Given the description of an element on the screen output the (x, y) to click on. 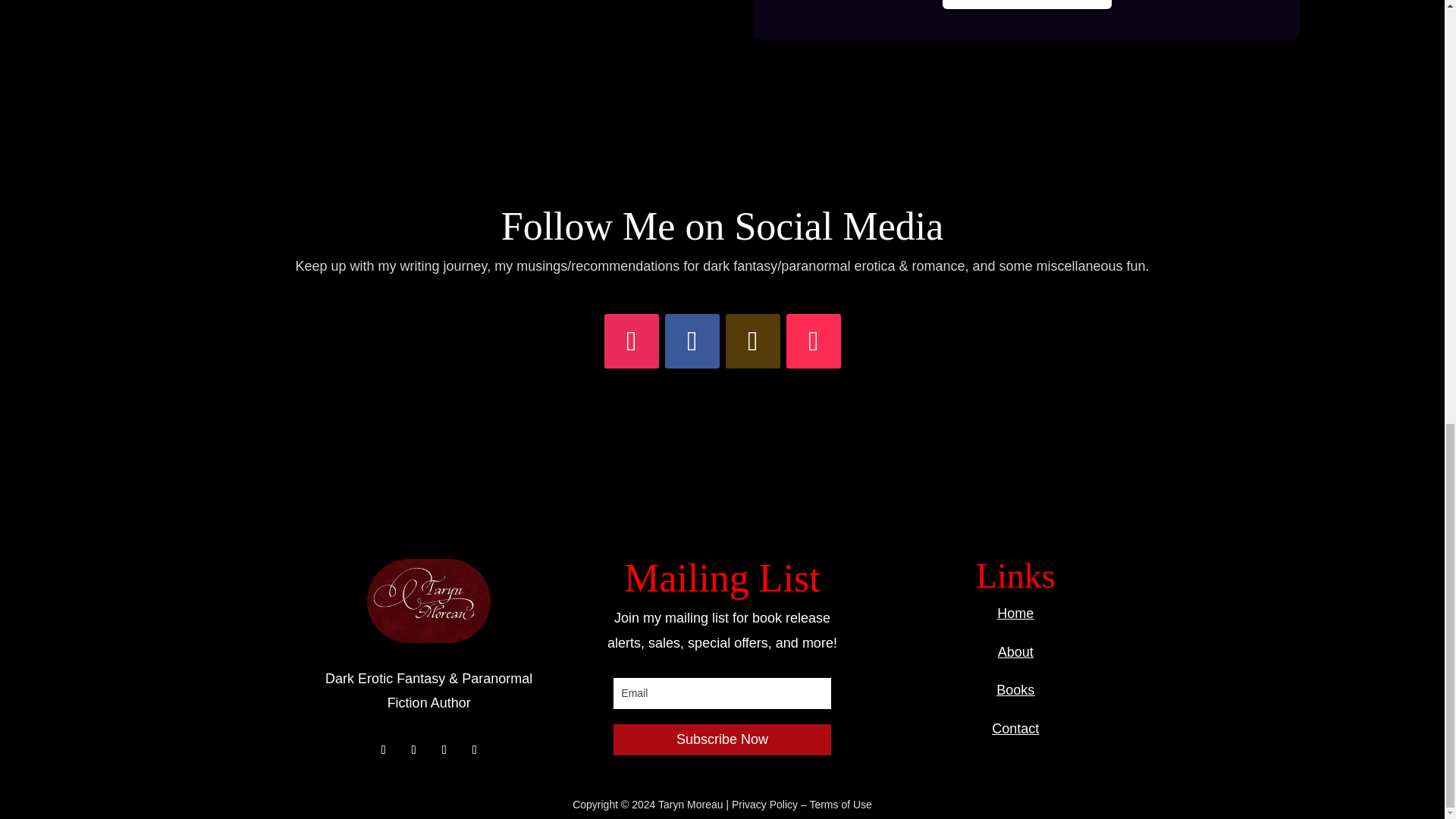
Contact (1015, 728)
Follow on TikTok (813, 340)
Follow on Goodreads (751, 340)
About (1015, 652)
Subscribe Now (720, 739)
Follow on Instagram (631, 340)
Home (1015, 613)
Books (1014, 689)
Follow on Facebook (691, 340)
Follow Me On Ream (1026, 4)
